Given the description of an element on the screen output the (x, y) to click on. 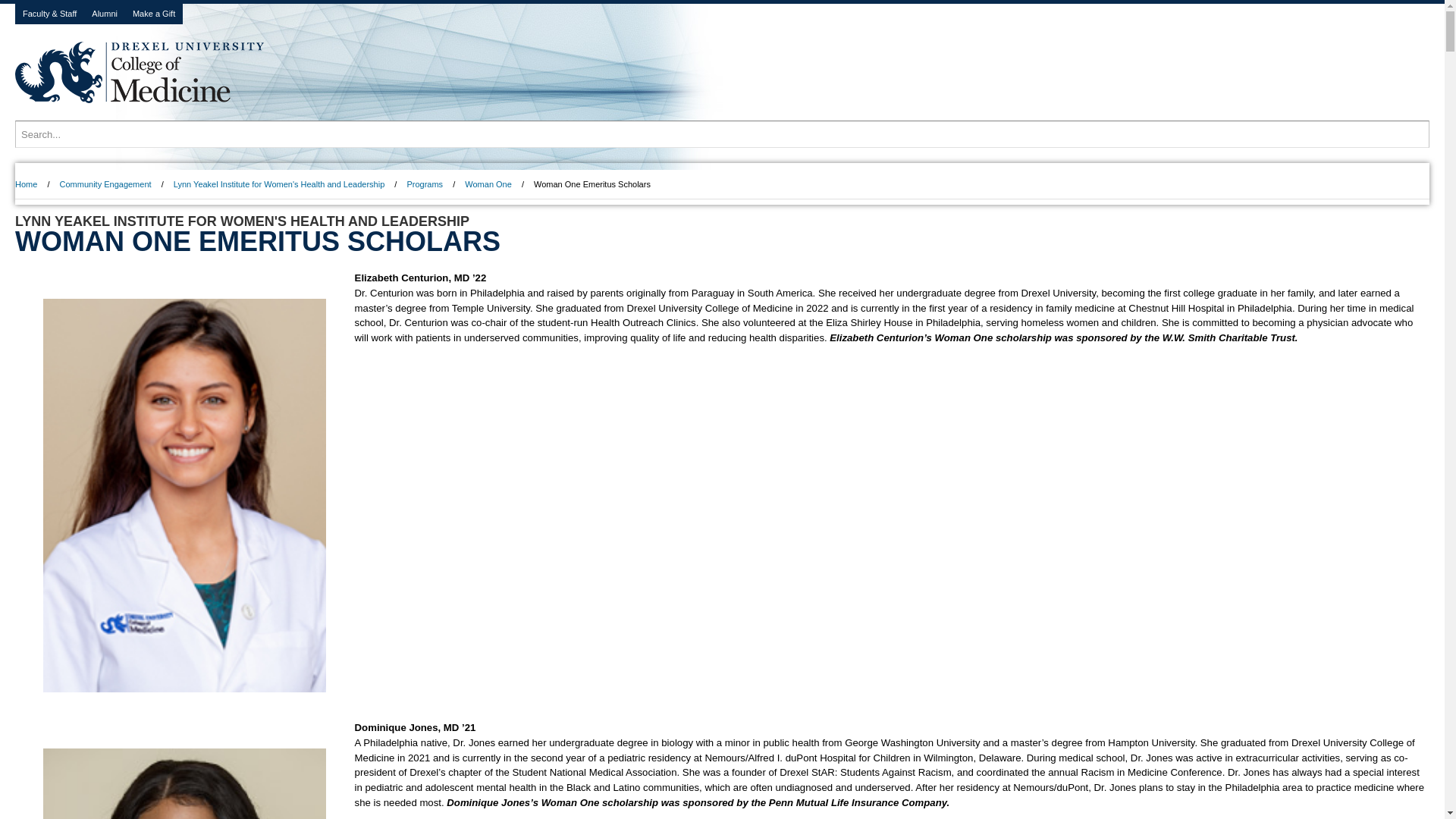
Alumni (104, 14)
Make a Gift (154, 14)
